Given the description of an element on the screen output the (x, y) to click on. 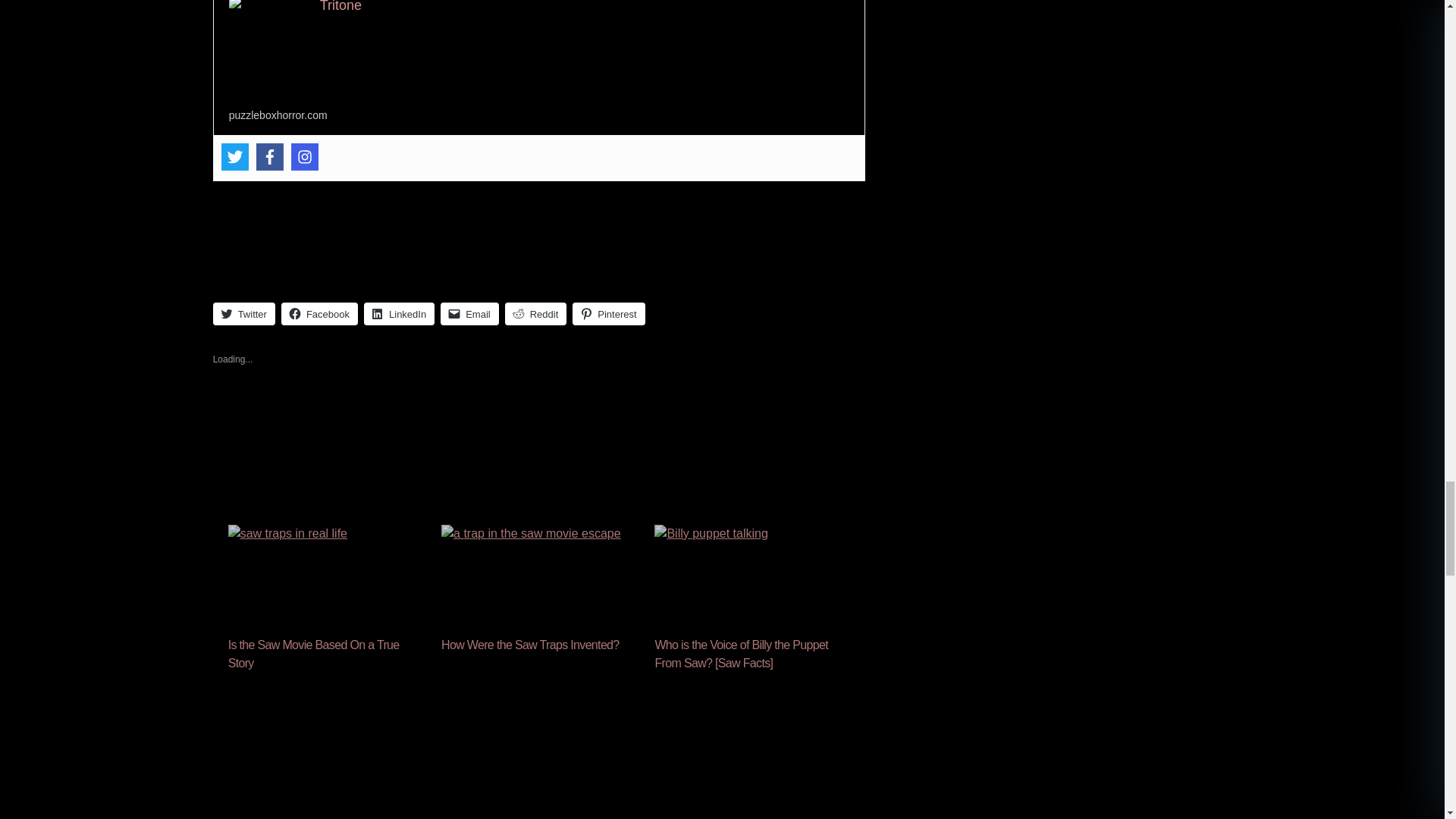
Twitter (234, 156)
Click to share on Pinterest (608, 313)
Click to email a link to a friend (470, 313)
Instagram (304, 156)
Click to share on Facebook (319, 313)
How Were the Saw Traps Invented? (530, 644)
Click to share on Reddit (536, 313)
Facebook (269, 156)
Click to share on LinkedIn (398, 313)
Is the Saw Movie Based On a True Story (325, 580)
